Given the description of an element on the screen output the (x, y) to click on. 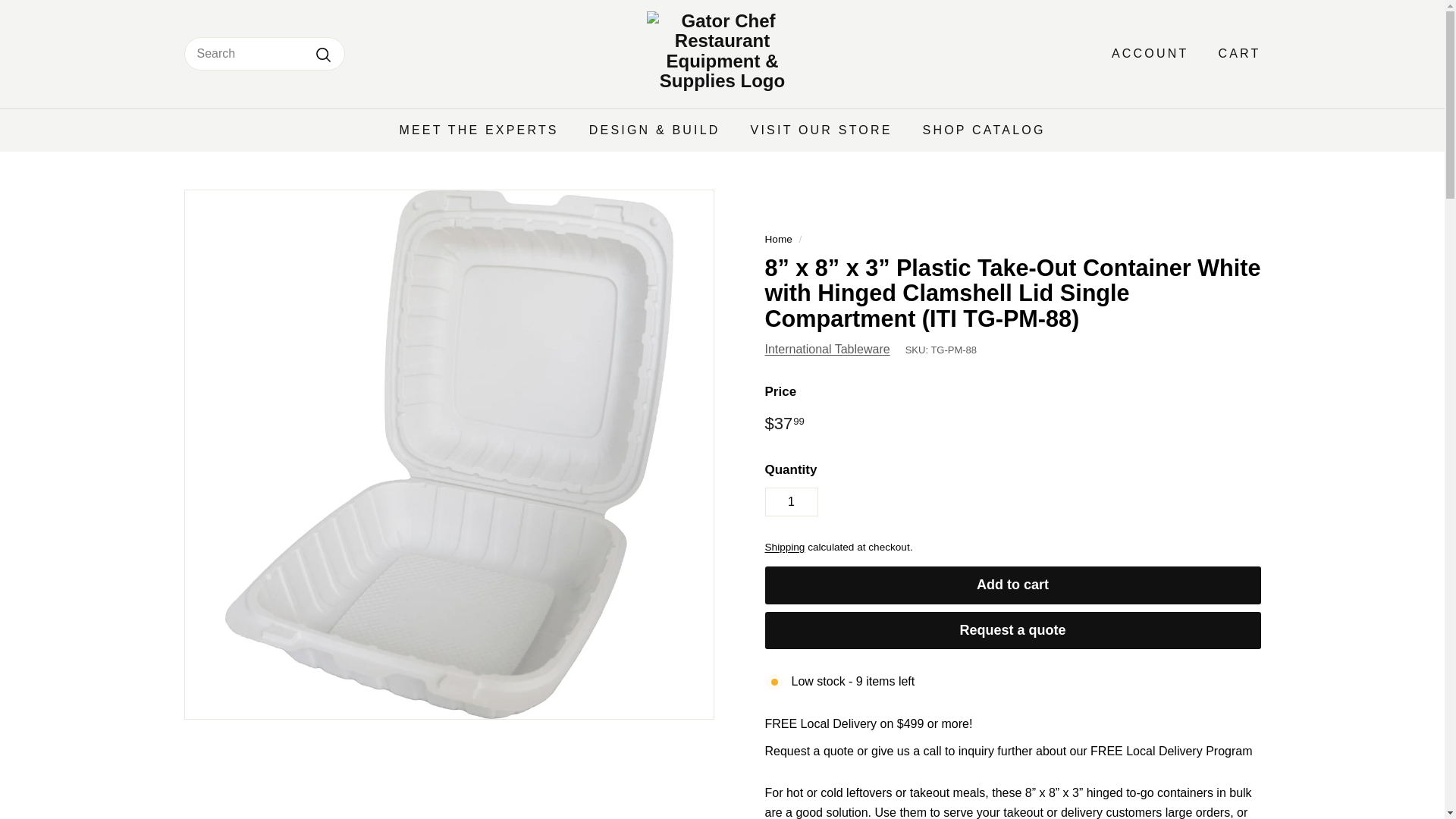
Back to the frontpage (778, 238)
International Tableware (826, 349)
1 (790, 501)
CART (1232, 53)
ACCOUNT (1144, 53)
MEET THE EXPERTS (478, 129)
VISIT OUR STORE (821, 129)
